Given the description of an element on the screen output the (x, y) to click on. 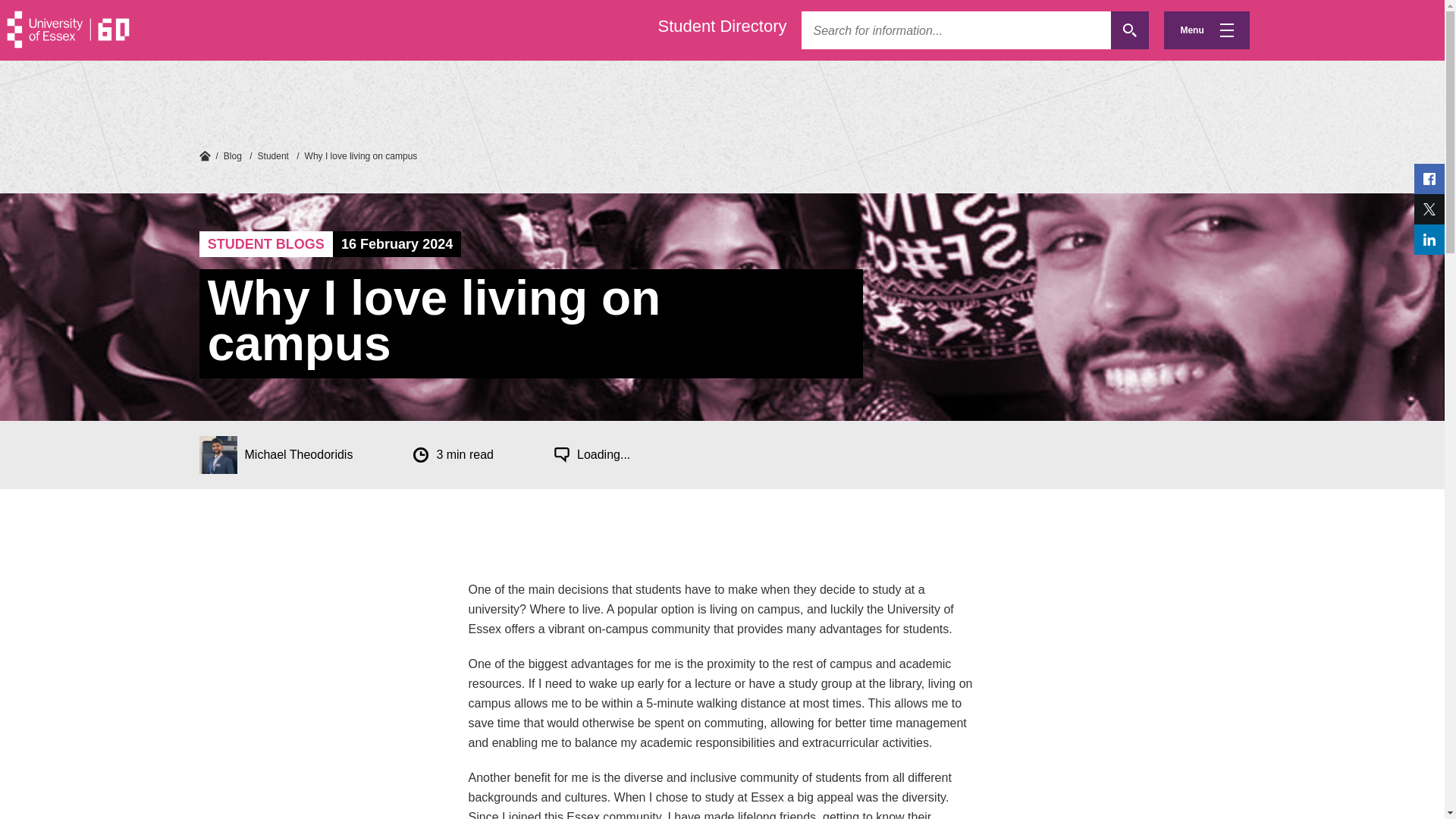
Menu (1206, 30)
University of Essex homepage (203, 155)
Search for information... (955, 30)
Student Directory (722, 26)
